Given the description of an element on the screen output the (x, y) to click on. 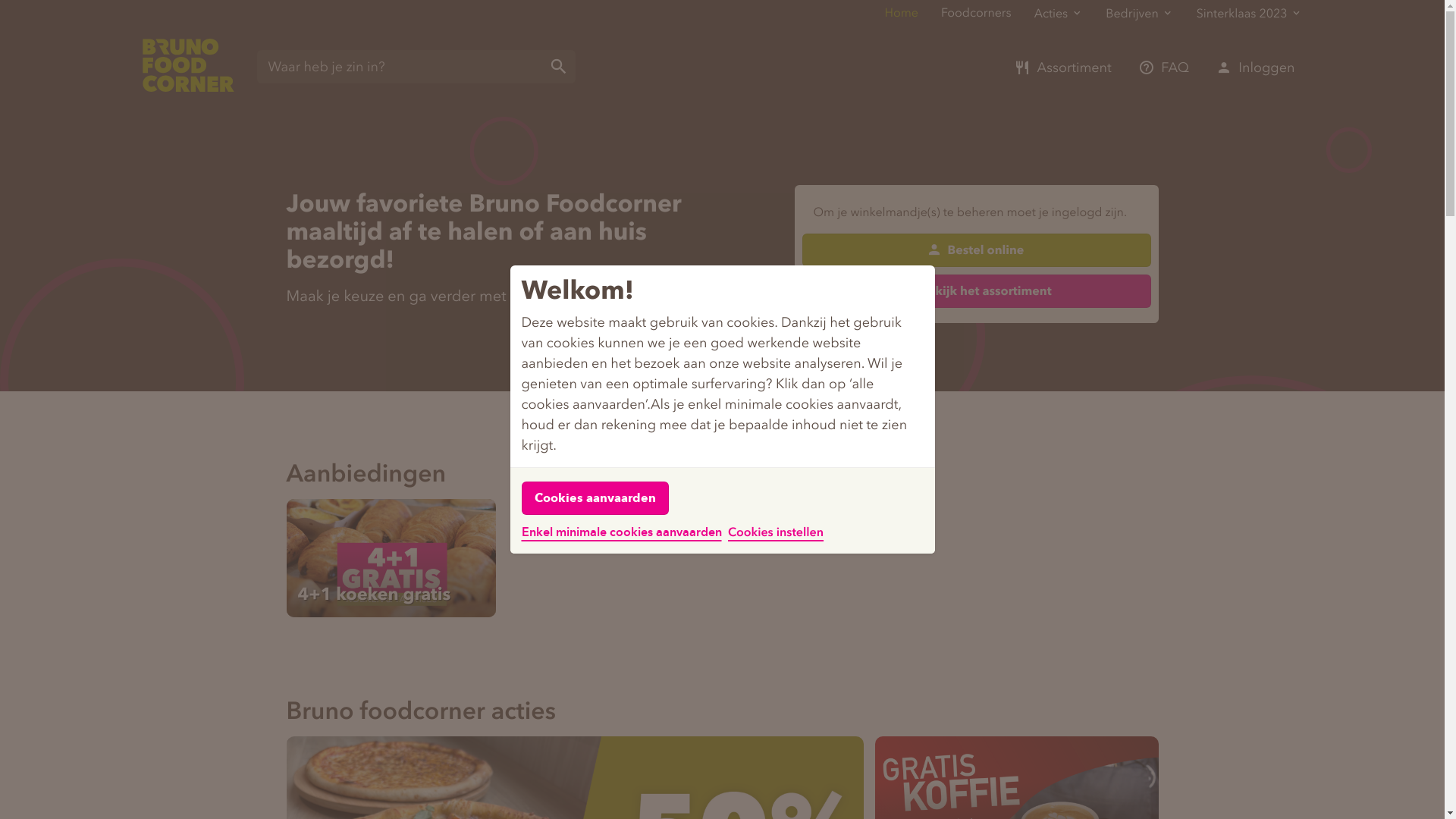
Bekijk het assortiment Element type: text (976, 290)
Assortiment Element type: text (1062, 65)
Inloggen Element type: text (1255, 65)
Acties Element type: text (1058, 13)
Home Element type: text (901, 13)
Enkel minimale cookies aanvaarden Element type: text (621, 532)
Cookies instellen Element type: text (775, 533)
FAQ Element type: text (1163, 65)
4+1 koeken gratis Element type: text (373, 594)
Bedrijven Element type: text (1139, 13)
Cookies aanvaarden Element type: text (594, 497)
Sinterklaas 2023 Element type: text (1249, 13)
Foodcorners Element type: text (976, 13)
Zoeken Element type: text (558, 66)
Bestel online Element type: text (976, 249)
